Given the description of an element on the screen output the (x, y) to click on. 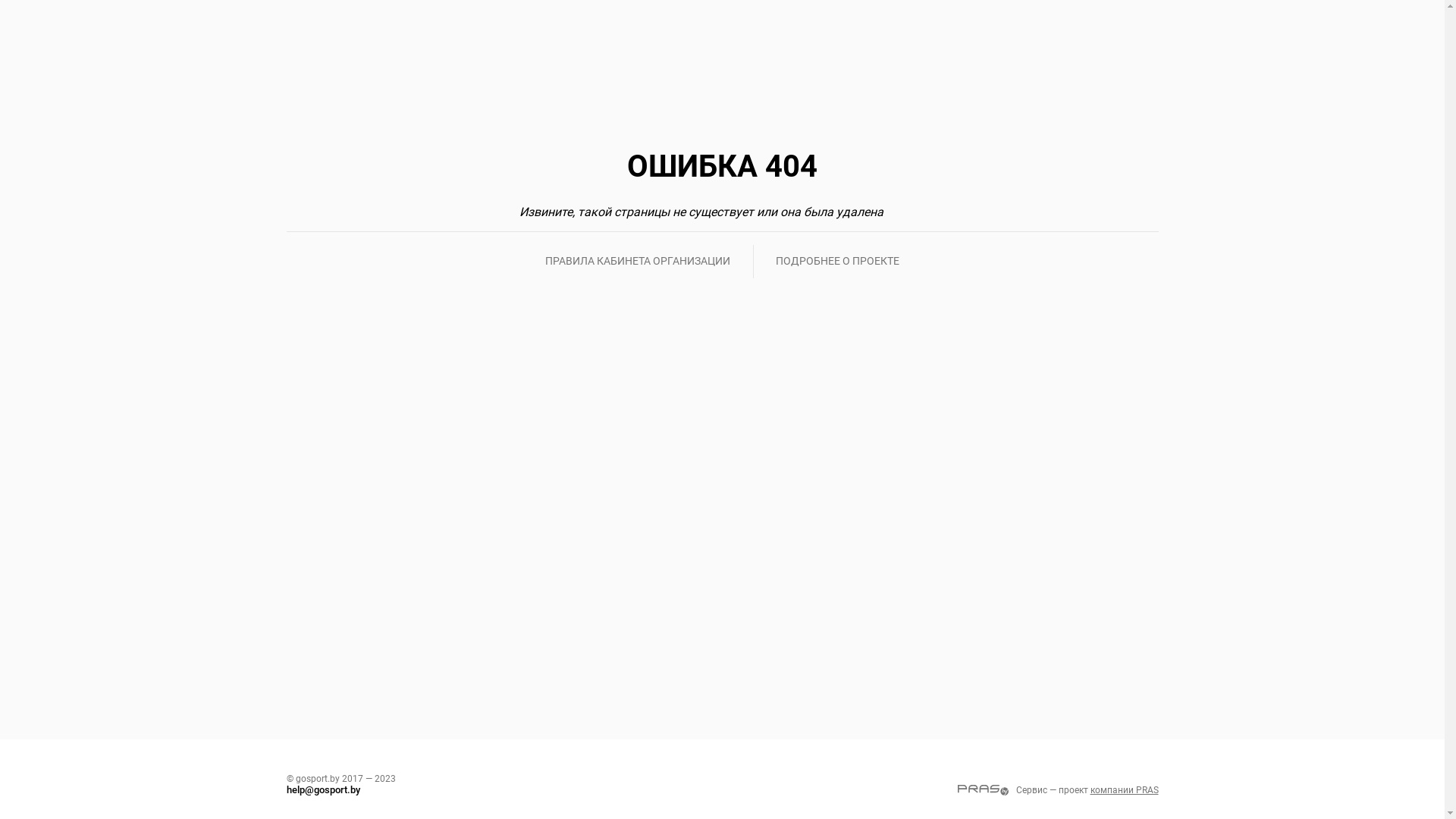
help@gosport.by Element type: text (323, 789)
